Given the description of an element on the screen output the (x, y) to click on. 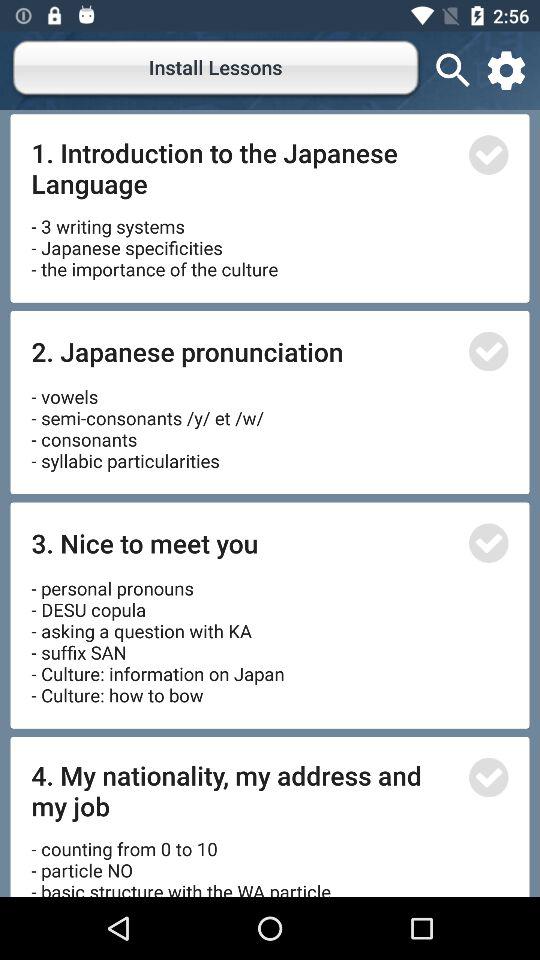
turn on the 1 introduction to (243, 167)
